Given the description of an element on the screen output the (x, y) to click on. 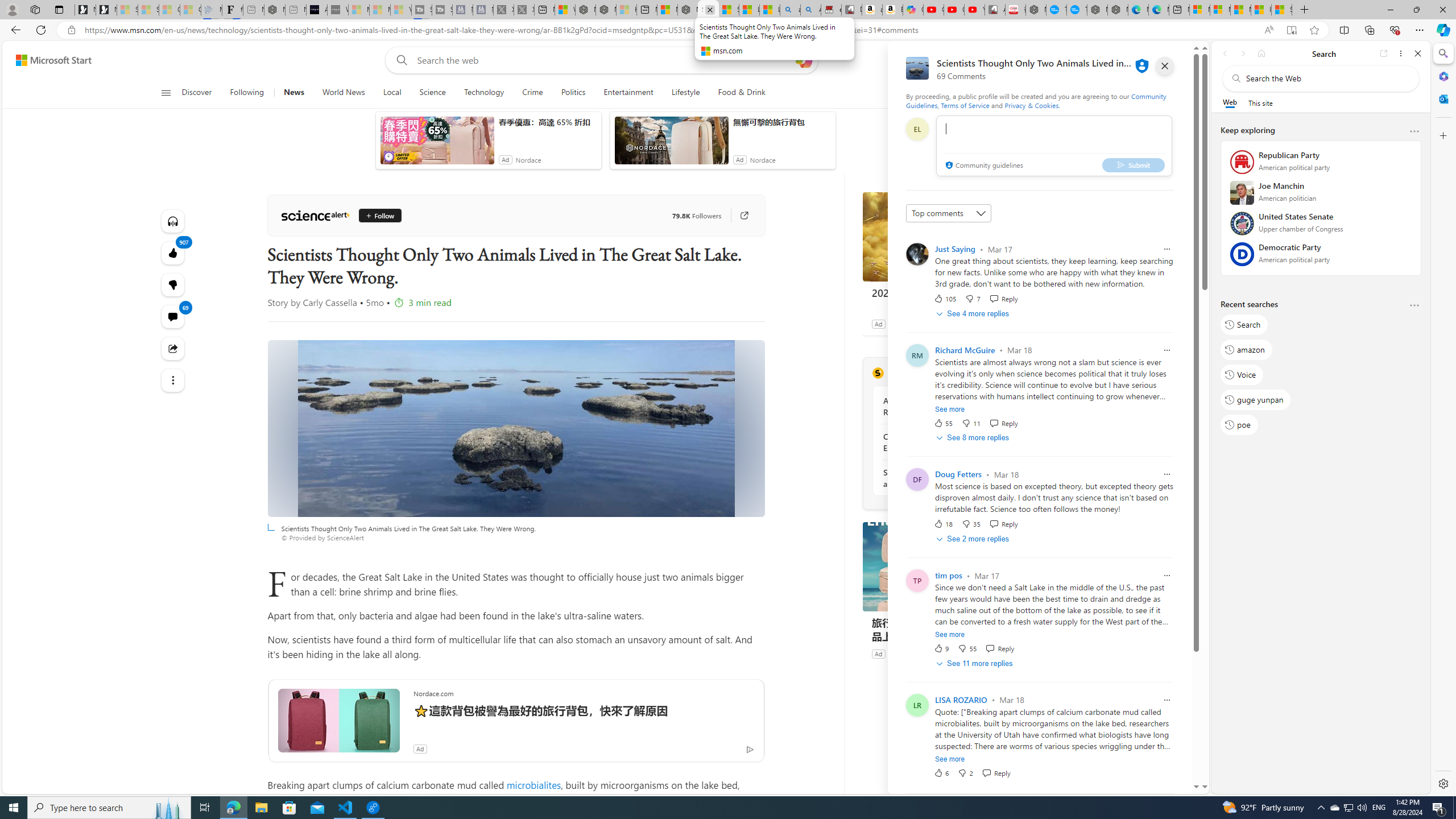
Microsoft Start (1240, 9)
Outlook (1442, 98)
amazon (1246, 349)
Microsoft rewards (1129, 60)
News (293, 92)
Ad Choice (1020, 653)
See 2 more replies (973, 539)
guge yunpan (1255, 399)
Class: button-glyph (165, 92)
Go to publisher's site (737, 215)
Politics (572, 92)
Democratic Party American political party (1321, 257)
